Given the description of an element on the screen output the (x, y) to click on. 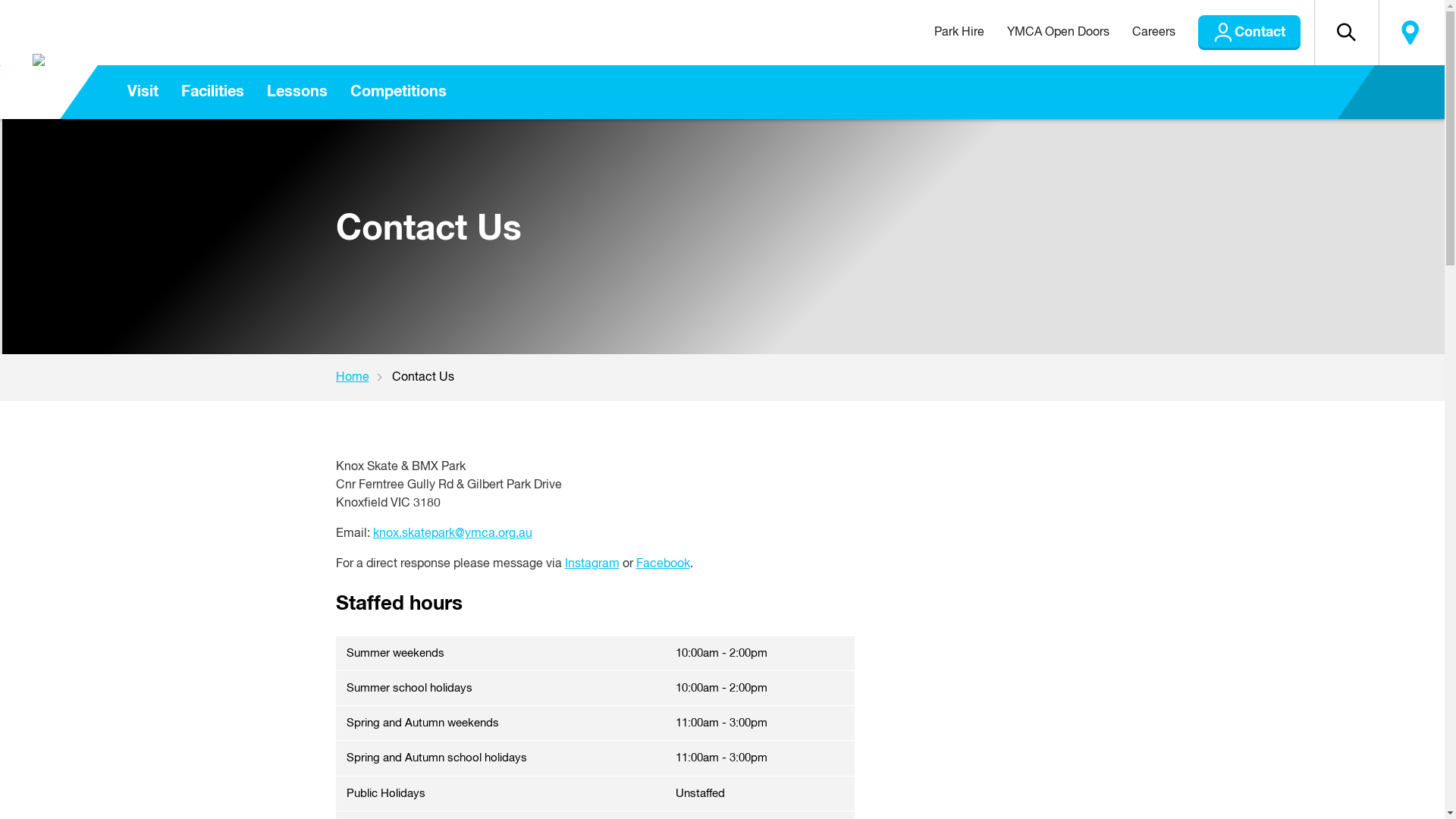
Park Hire Element type: text (958, 32)
Competitions Element type: text (397, 92)
Contact Element type: text (1249, 32)
Lessons Element type: text (296, 92)
skatepark@ymca.org.au Element type: text (466, 533)
Visit Element type: text (142, 92)
Facebook Element type: text (662, 564)
YMCA Open Doors Element type: text (1057, 32)
Instagram Element type: text (591, 564)
Facilities Element type: text (212, 92)
Home Element type: text (363, 377)
Locate Element type: text (1410, 32)
Careers Element type: text (1153, 32)
knox. Element type: text (387, 533)
